Given the description of an element on the screen output the (x, y) to click on. 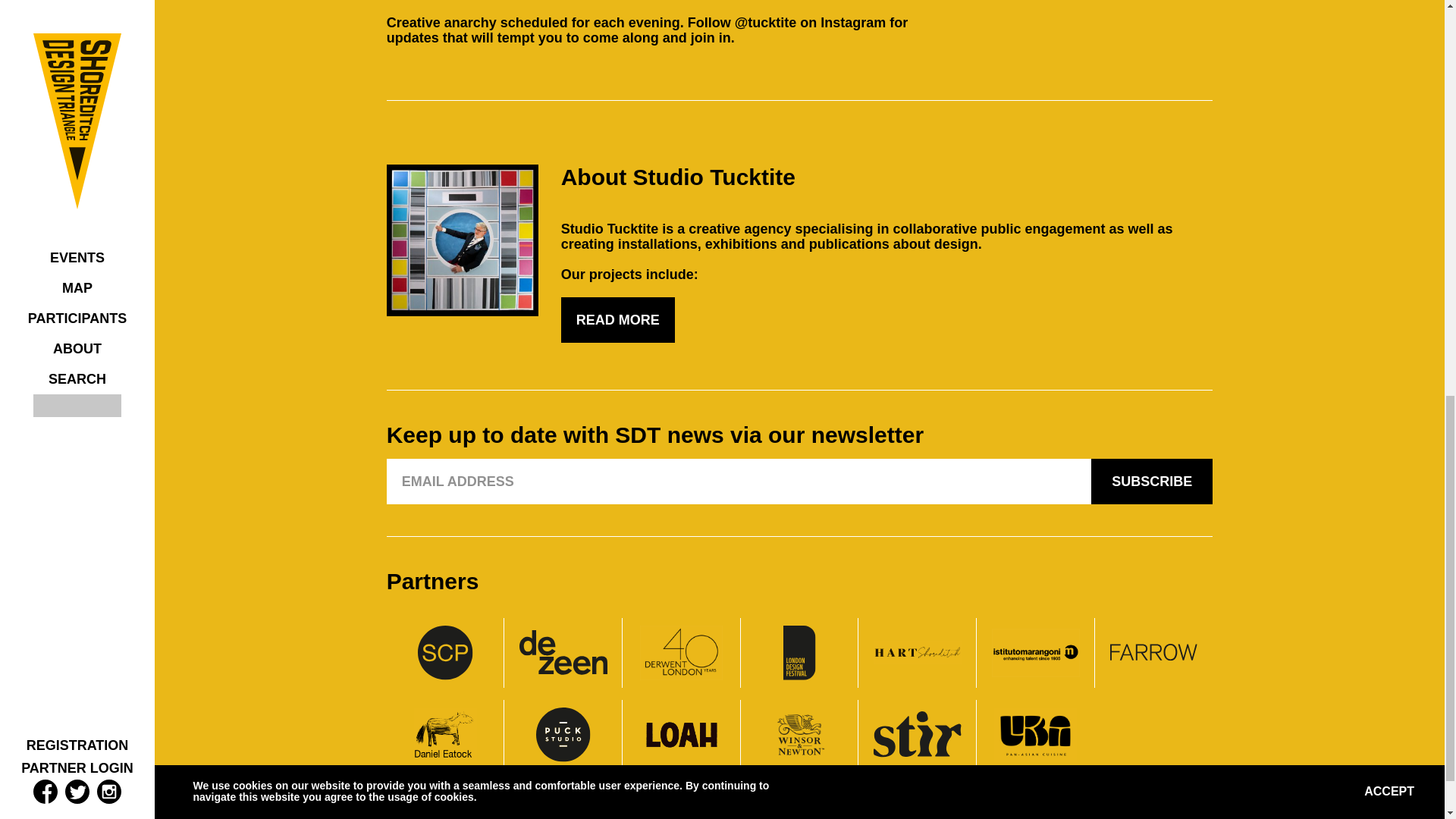
READ MORE (617, 320)
Privacy Policy (734, 814)
About Studio Tucktite (677, 176)
SUBSCRIBE (1151, 481)
0207 749 7393 (1176, 814)
